Given the description of an element on the screen output the (x, y) to click on. 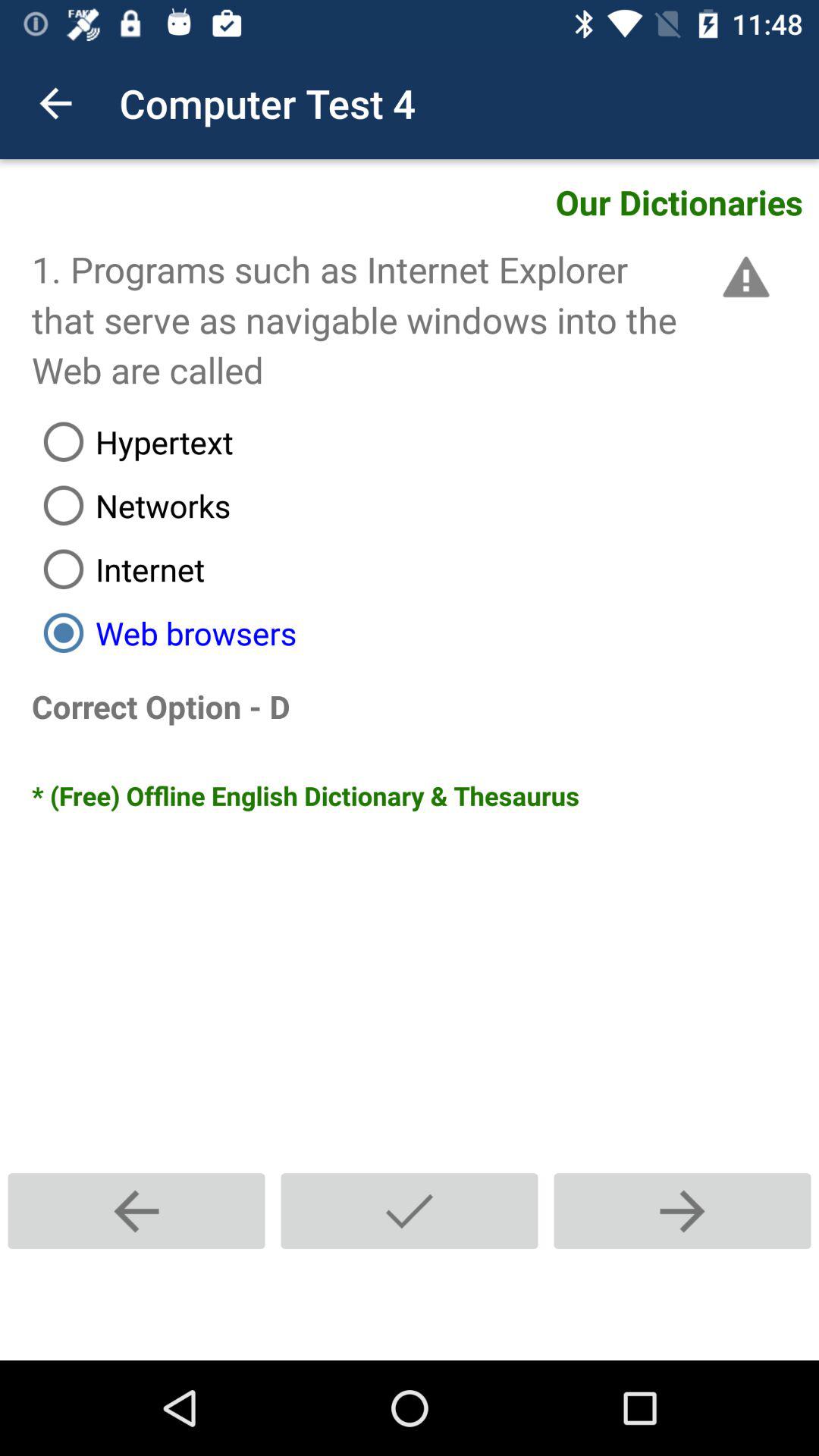
go to next question (682, 1210)
